Given the description of an element on the screen output the (x, y) to click on. 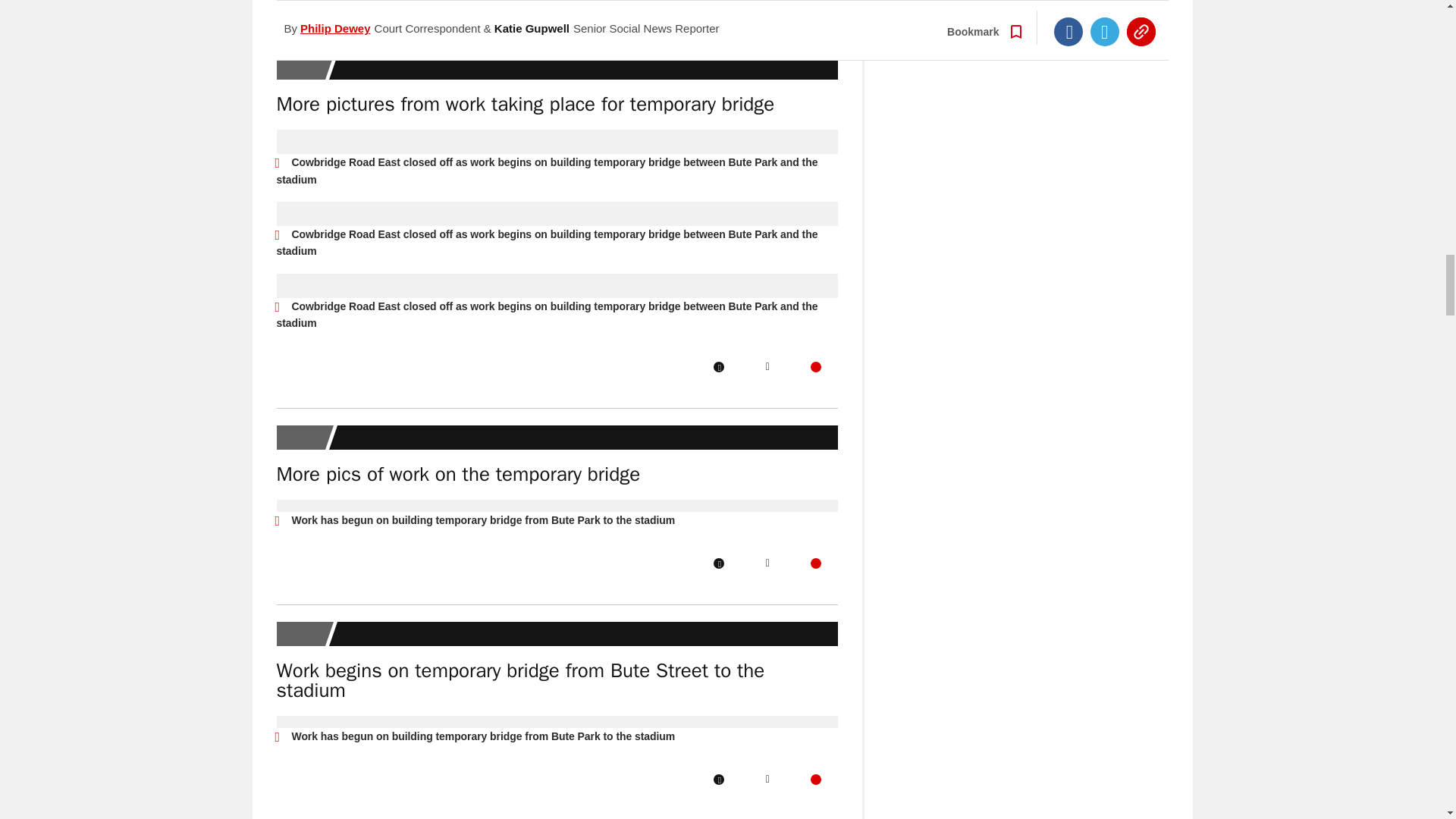
Facebook (718, 366)
Twitter (767, 366)
